Given the description of an element on the screen output the (x, y) to click on. 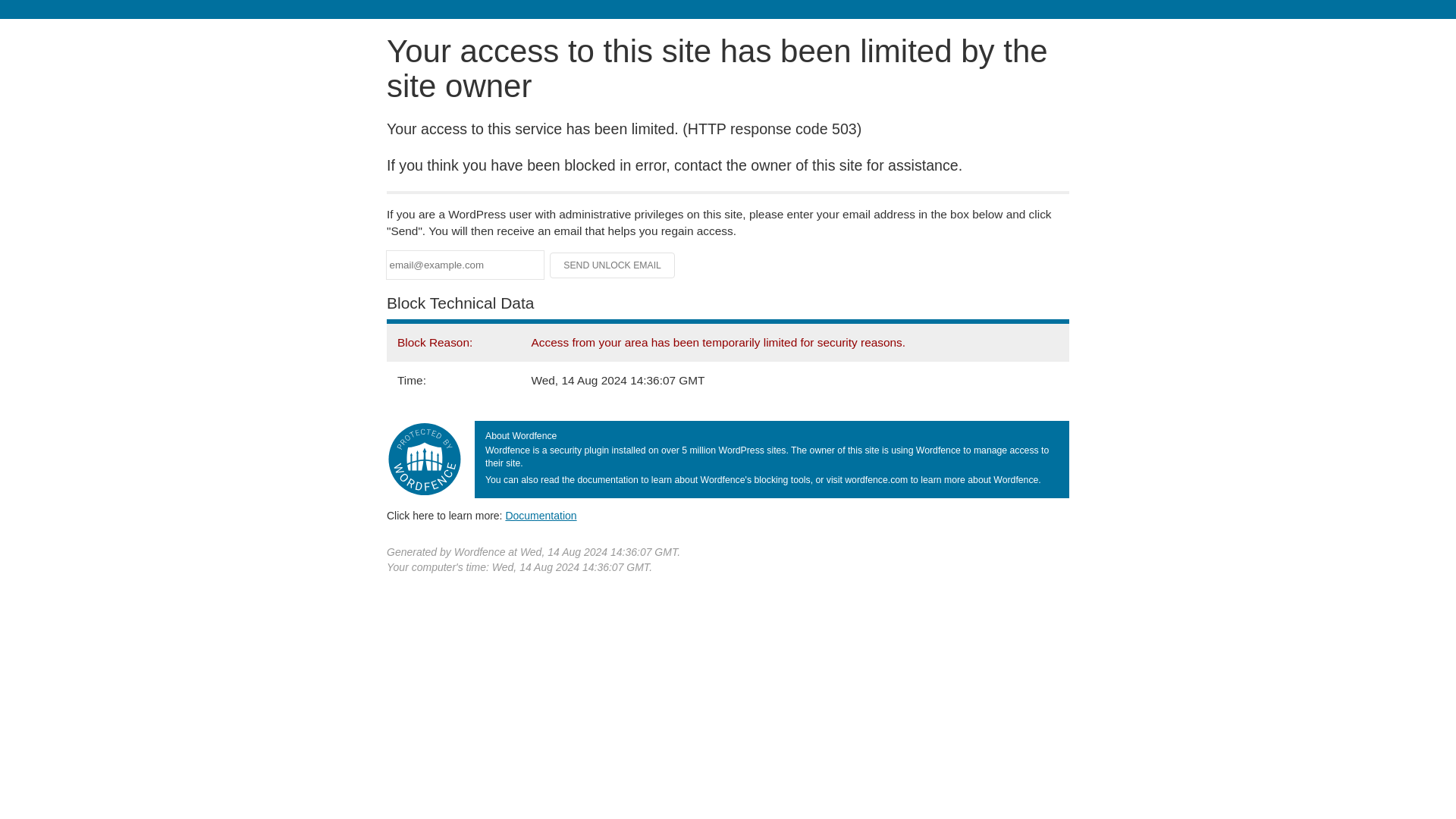
Send Unlock Email (612, 265)
Documentation (540, 515)
Send Unlock Email (612, 265)
